Given the description of an element on the screen output the (x, y) to click on. 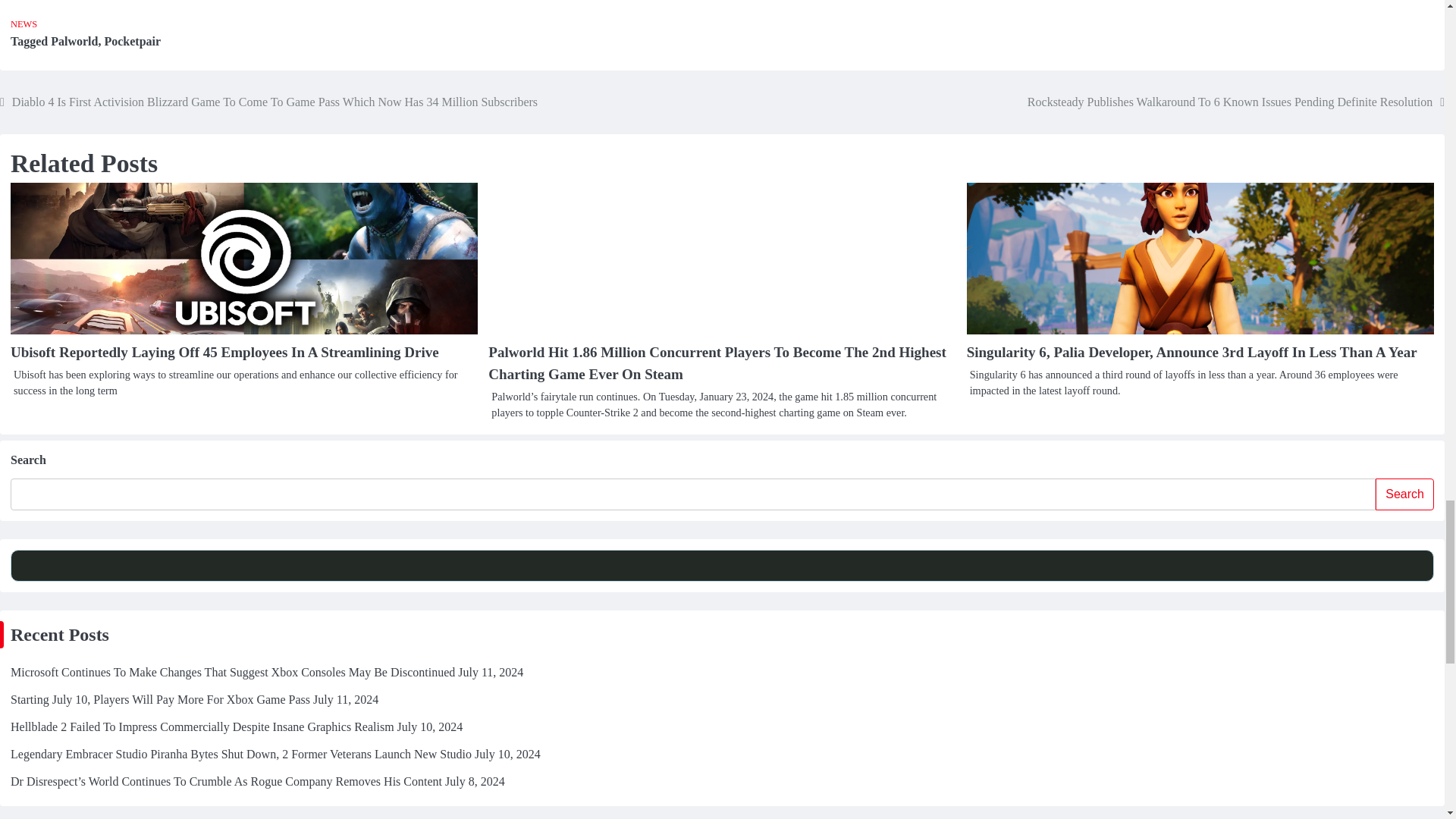
NEWS (23, 23)
Palworld (73, 41)
Pocketpair (131, 41)
Search (1404, 494)
Starting July 10, Players Will Pay More For Xbox Game Pass (160, 698)
